Given the description of an element on the screen output the (x, y) to click on. 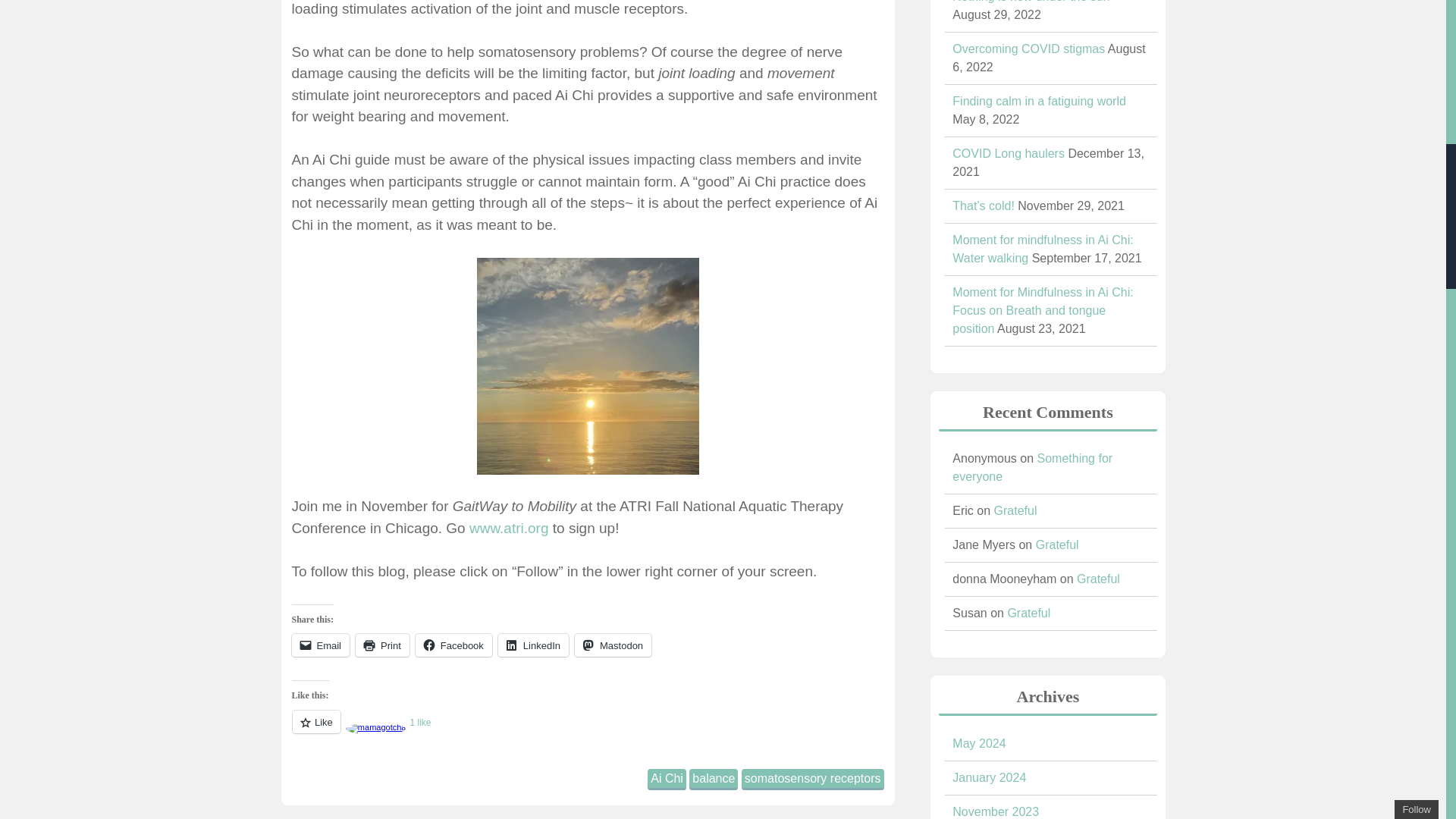
Ai Chi (666, 779)
Mastodon (612, 644)
Click to share on LinkedIn (533, 644)
Email (320, 644)
Print (382, 644)
balance (713, 779)
somatosensory receptors (812, 779)
Like or Reblog (587, 730)
LinkedIn (533, 644)
Sign up! (1363, 87)
Click to share on Facebook (453, 644)
Facebook (453, 644)
Click to email a link to a friend (320, 644)
Click to print (382, 644)
Click to share on Mastodon (612, 644)
